Given the description of an element on the screen output the (x, y) to click on. 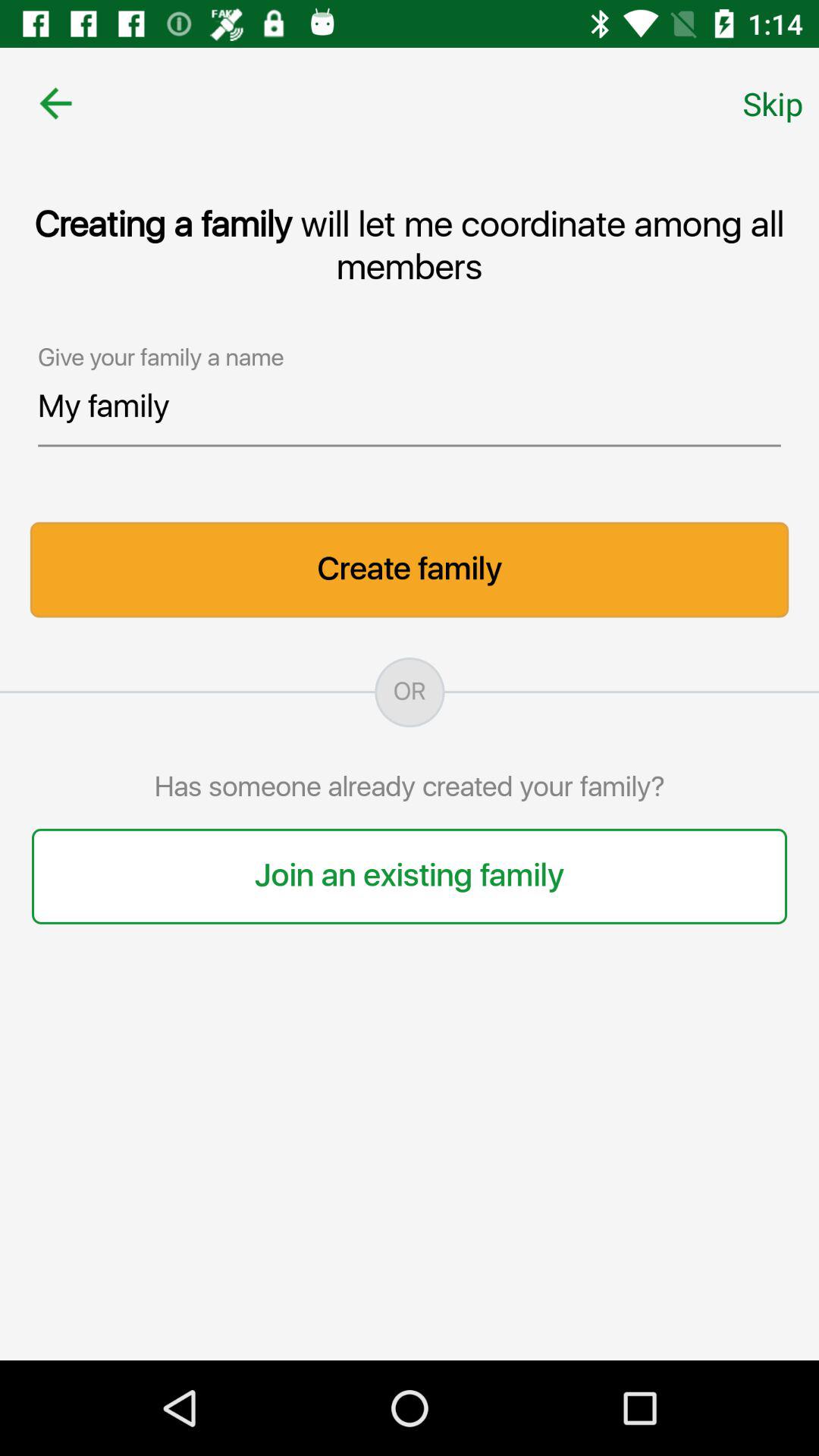
open the item below create family icon (409, 692)
